Given the description of an element on the screen output the (x, y) to click on. 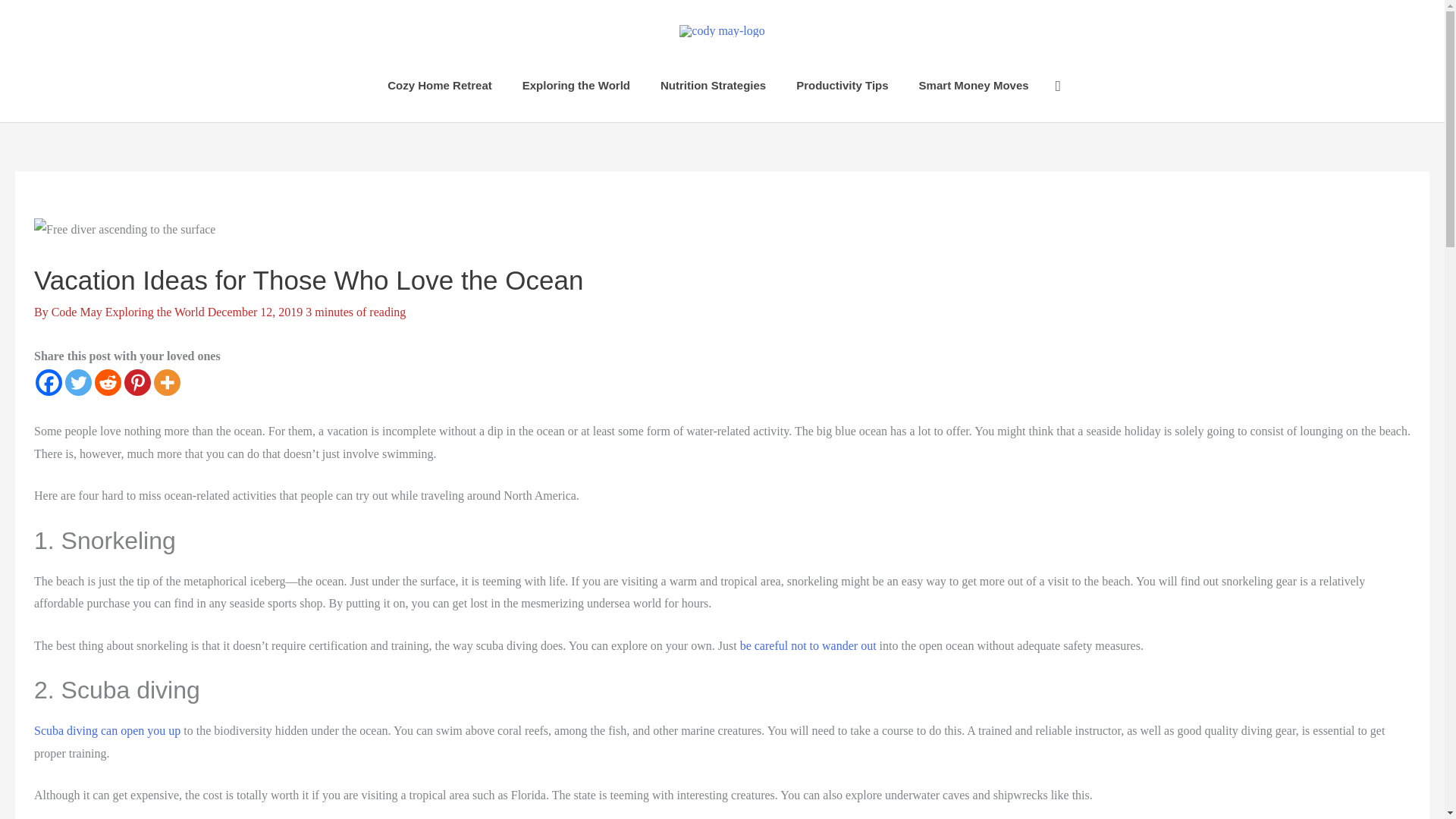
be careful not to wander out (807, 645)
Pinterest (137, 382)
Exploring the World (575, 85)
More (167, 382)
Twitter (78, 382)
Smart Money Moves (973, 85)
Scuba Diving (106, 730)
Exploring the World (154, 310)
Facebook (48, 382)
Code May (77, 310)
Nutrition Strategies (712, 85)
Scuba diving can open you up (106, 730)
View all posts by Code May (77, 310)
Productivity Tips (841, 85)
Cozy Home Retreat (439, 85)
